Given the description of an element on the screen output the (x, y) to click on. 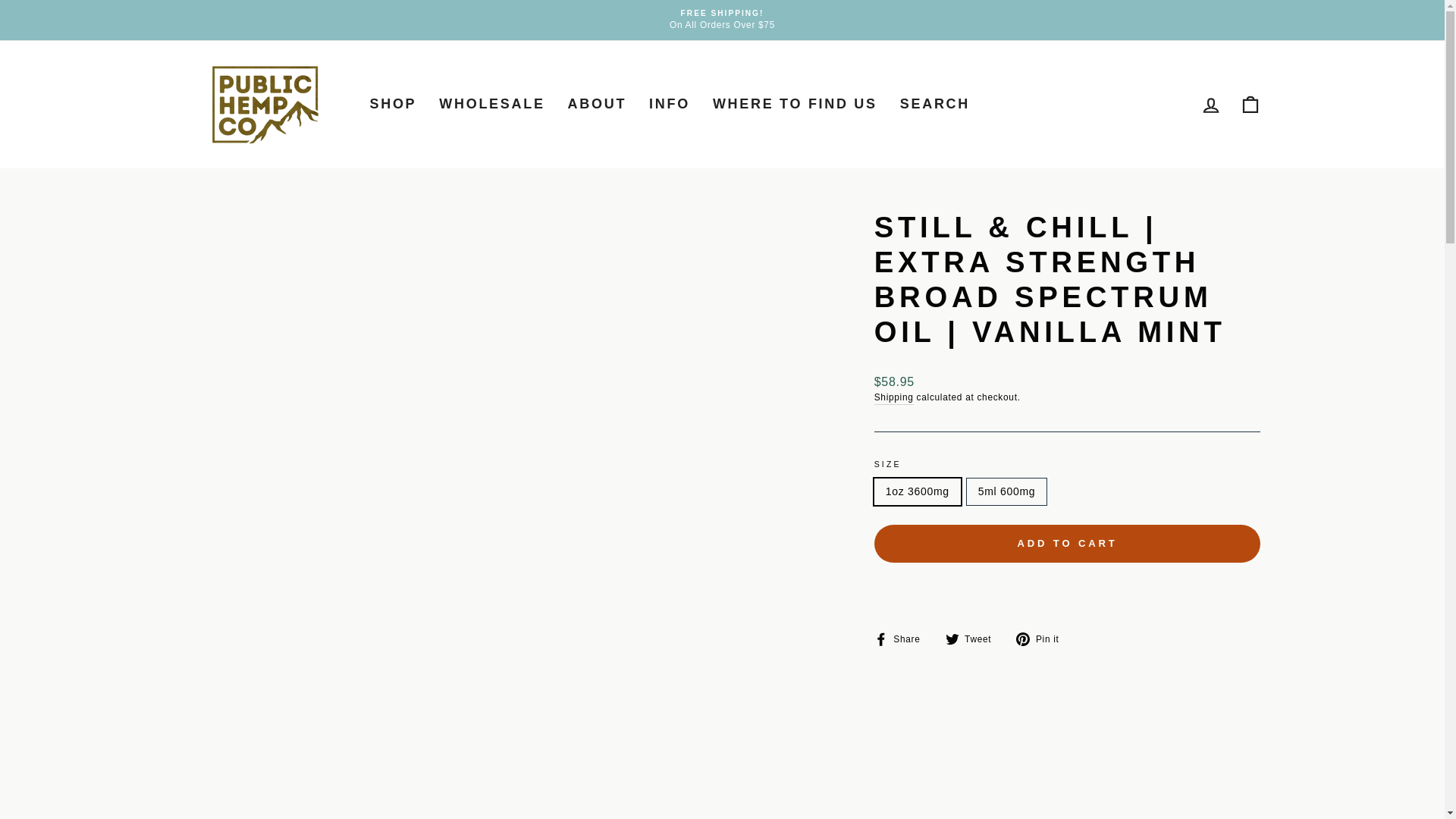
Share on Facebook (903, 638)
SHOP (393, 104)
Tweet on Twitter (973, 638)
Pin on Pinterest (1043, 638)
